Given the description of an element on the screen output the (x, y) to click on. 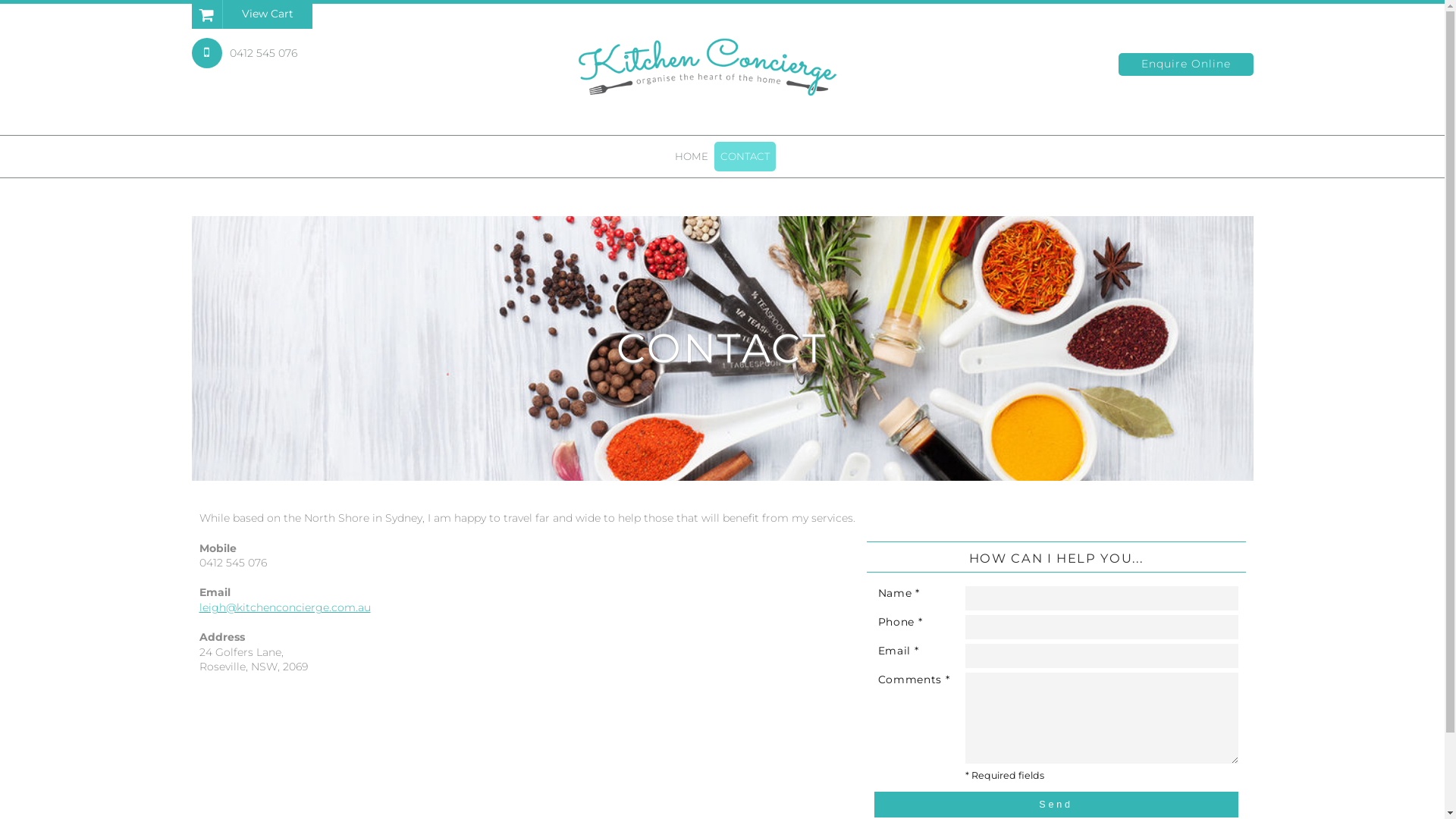
CONTACT Element type: text (744, 156)
HOME Element type: text (691, 156)
leigh@kitchenconcierge.com.au Element type: text (284, 607)
Enquire Online Element type: text (1184, 64)
0412 545 076 Element type: text (244, 52)
Send Element type: text (1055, 804)
CONTACT Element type: text (721, 348)
